Given the description of an element on the screen output the (x, y) to click on. 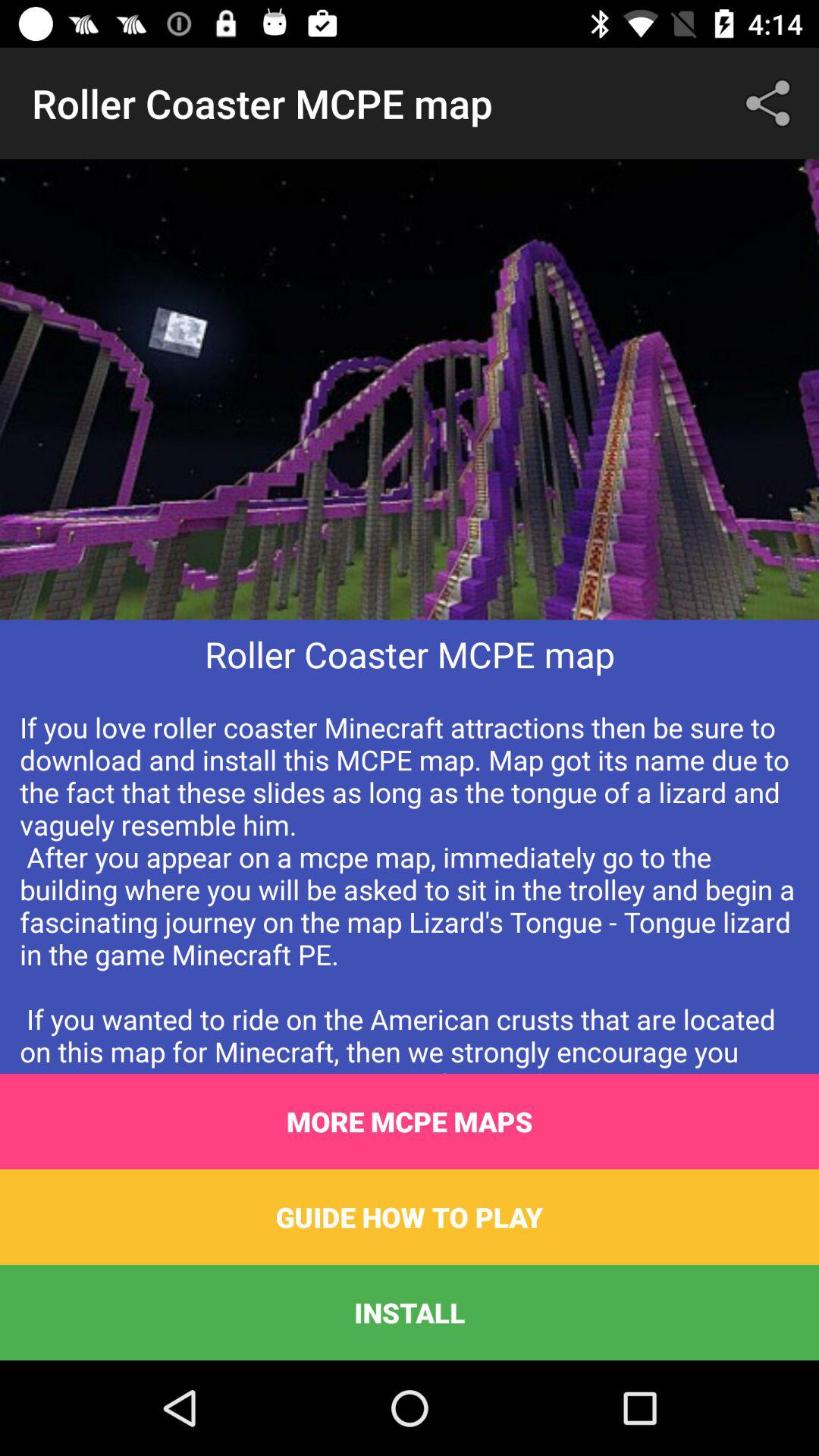
flip to the guide how to (409, 1216)
